Given the description of an element on the screen output the (x, y) to click on. 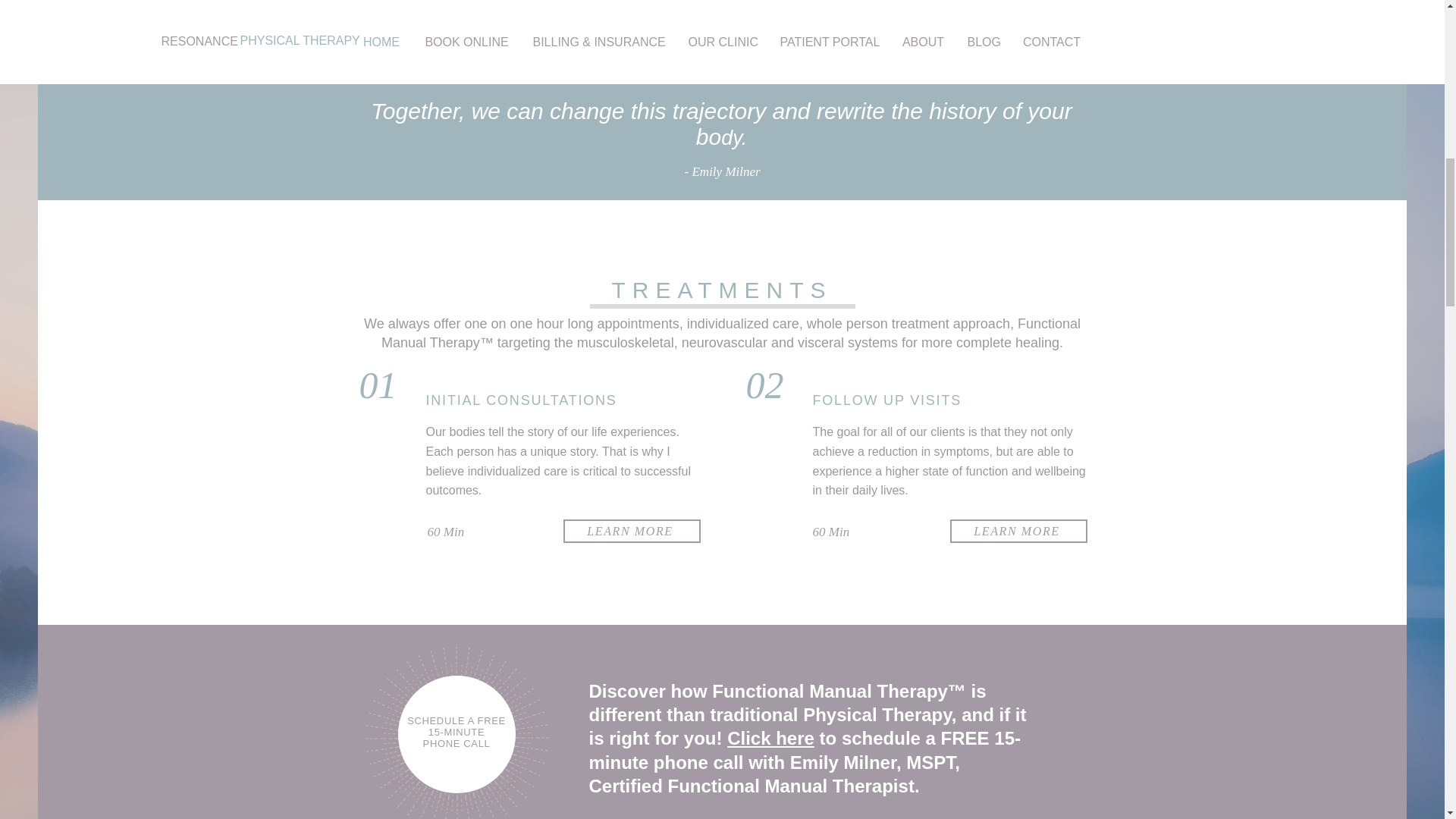
LEARN MORE (631, 530)
LEARN MORE (1017, 530)
Click here (769, 738)
